Given the description of an element on the screen output the (x, y) to click on. 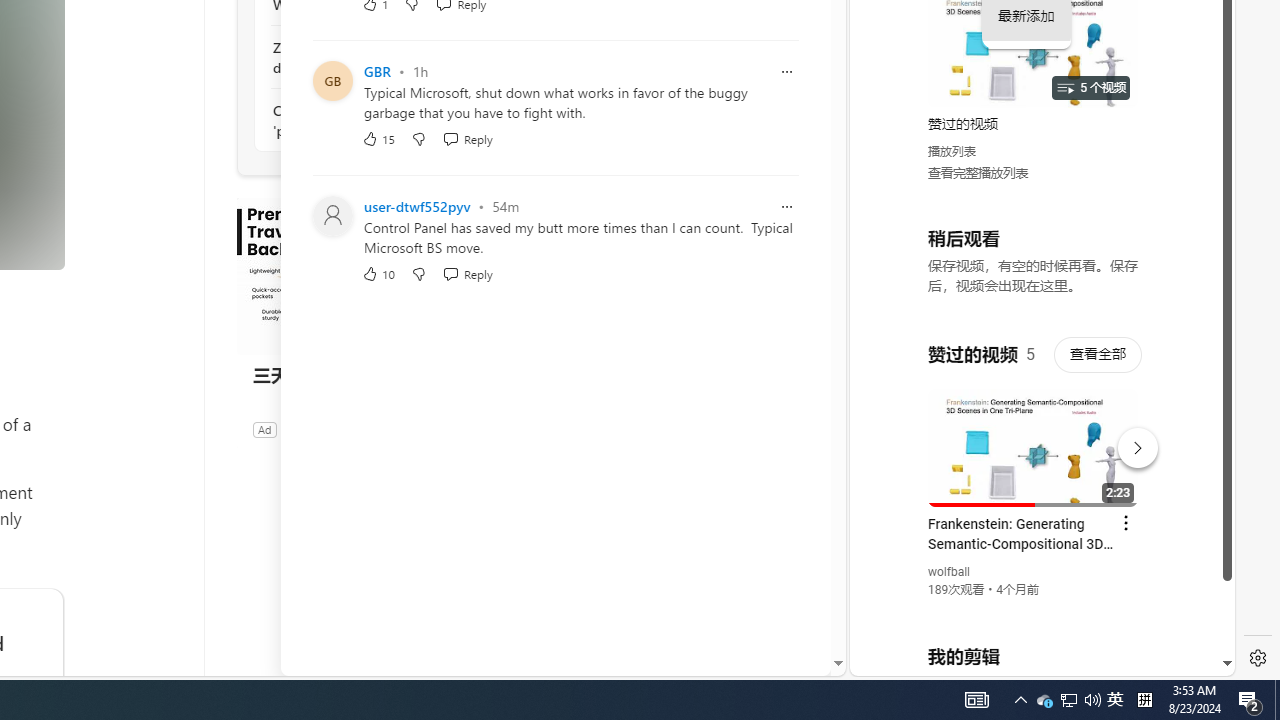
GBR (376, 71)
Click to scroll right (1196, 83)
Zoom profits up despite CEO's doubts about remote working (381, 57)
Class: dict_pnIcon rms_img (1028, 660)
US[ju] (917, 660)
#you (1034, 439)
